Given the description of an element on the screen output the (x, y) to click on. 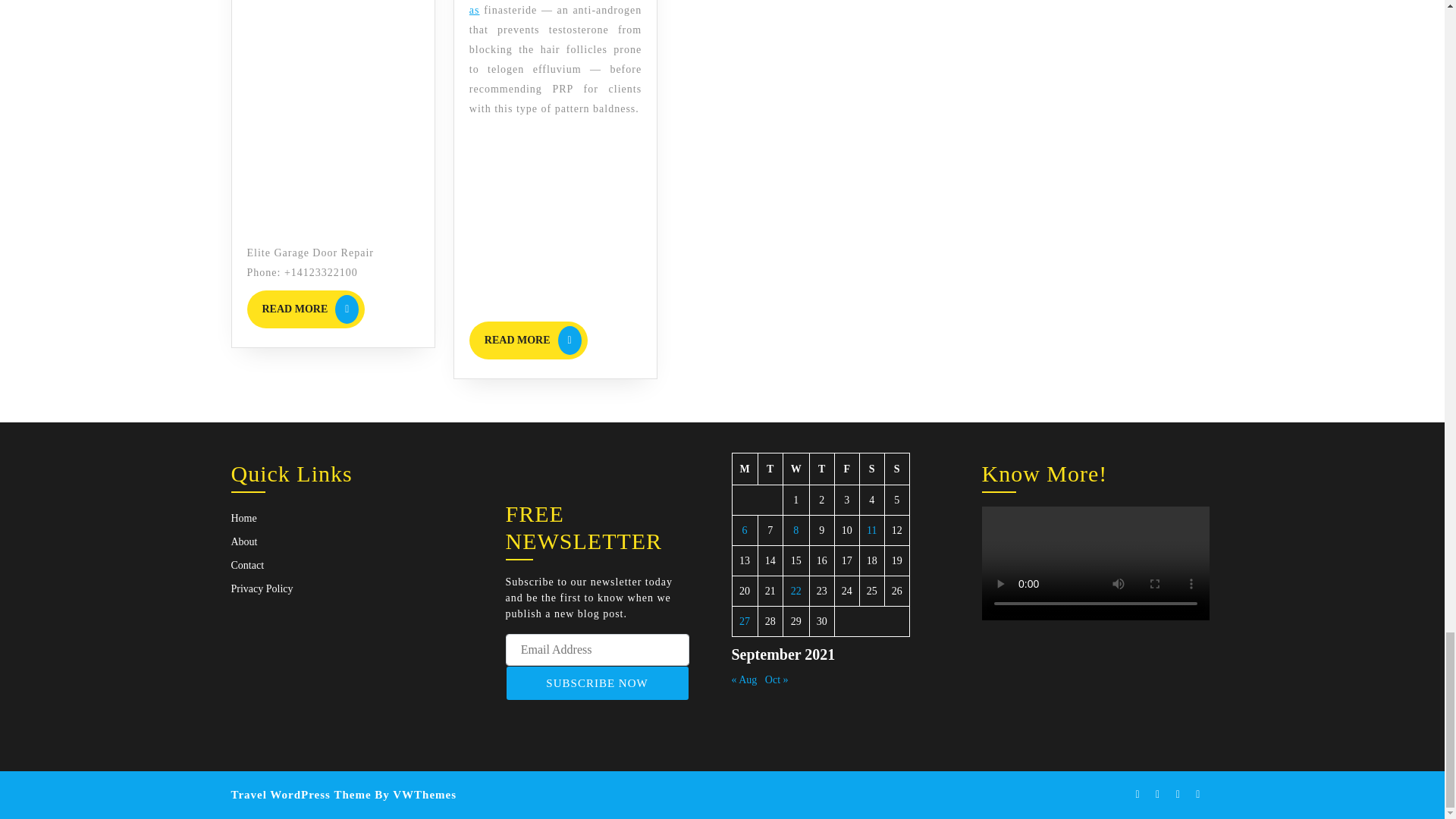
Sunday (895, 469)
Tuesday (770, 469)
Friday (846, 469)
SUBSCRIBE NOW (528, 340)
Monday (596, 683)
Saturday (744, 469)
Thursday (871, 469)
Wednesday (821, 469)
